Given the description of an element on the screen output the (x, y) to click on. 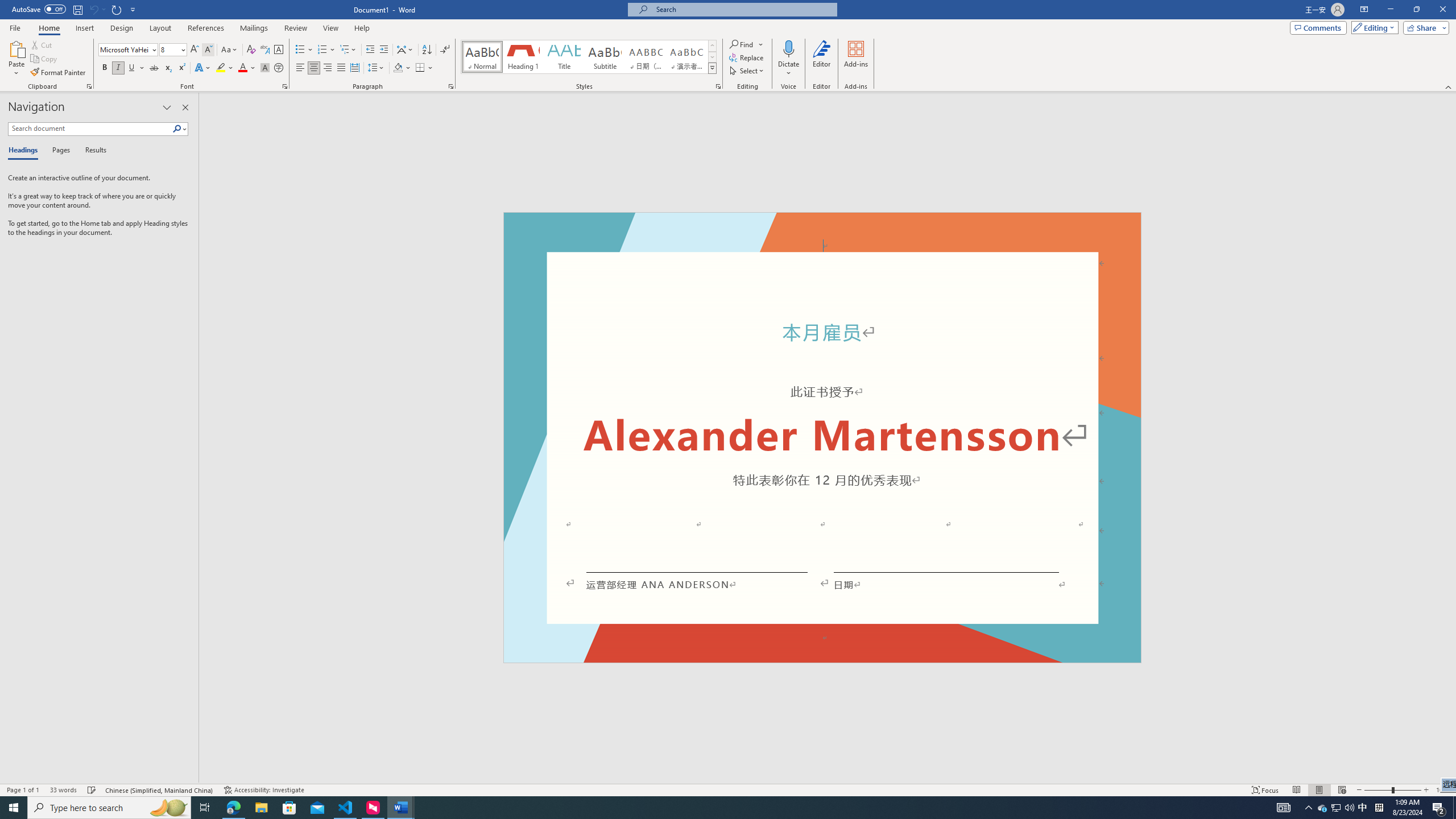
Spelling and Grammar Check Checking (91, 790)
Asian Layout (405, 49)
Read Mode (1296, 790)
Repeat Shrink Font (117, 9)
Line and Paragraph Spacing (376, 67)
Find (742, 44)
Enclose Characters... (278, 67)
Dictate (788, 48)
Decrease Indent (370, 49)
View (330, 28)
Header -Section 1- (822, 225)
More Options (788, 68)
Select (747, 69)
Review (295, 28)
